Given the description of an element on the screen output the (x, y) to click on. 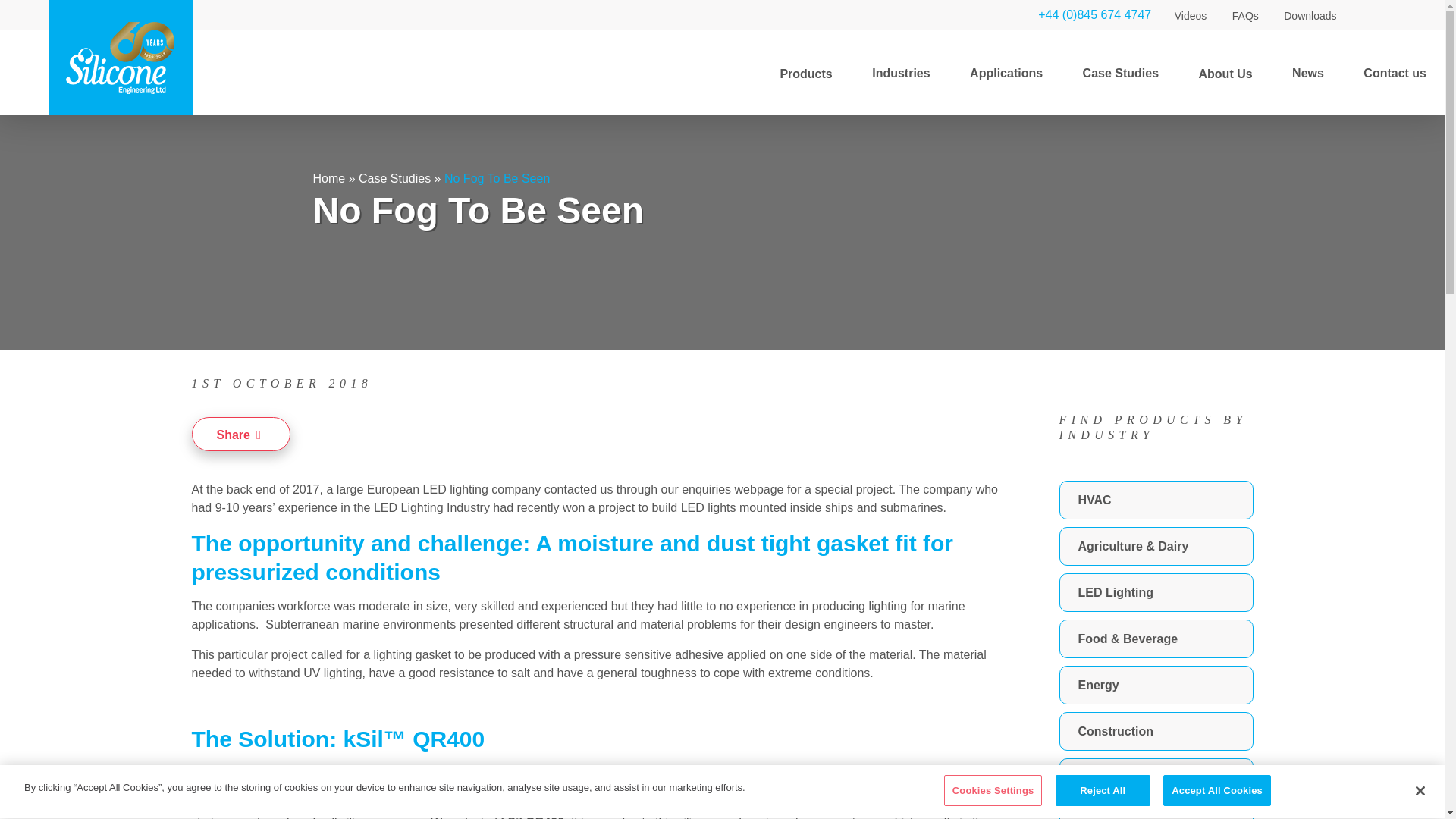
Applications (1006, 72)
Case Studies (394, 178)
Industries (900, 73)
About Us (1225, 72)
Contact us (1394, 73)
Case Studies (1120, 73)
Products (805, 72)
Home (329, 178)
Videos (1190, 14)
FAQs (1245, 14)
